Given the description of an element on the screen output the (x, y) to click on. 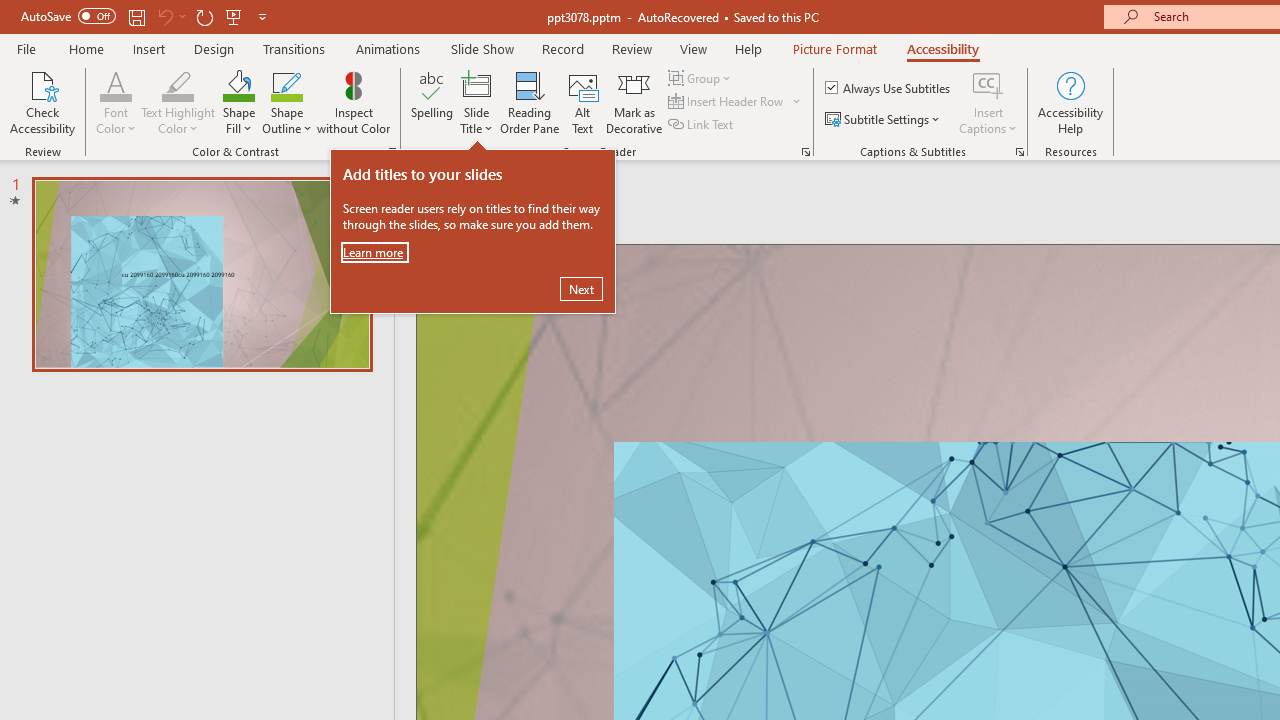
Screen Reader (805, 151)
Next (581, 288)
Learn more (375, 252)
Subtitle Settings (884, 119)
